Given the description of an element on the screen output the (x, y) to click on. 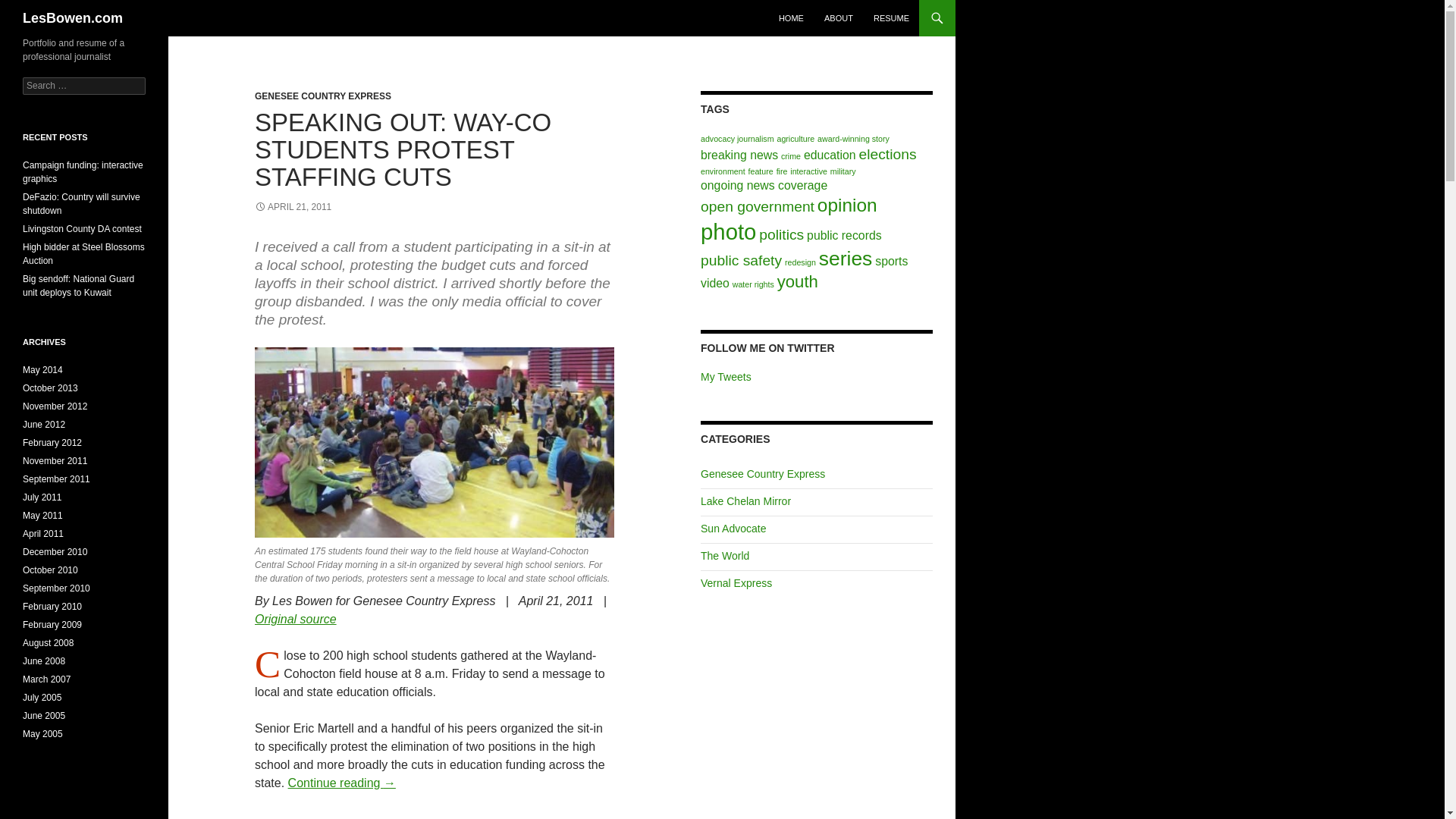
Original source (295, 618)
SPEAKING OUT: WAY-CO STUDENTS PROTEST STAFFING CUTS (402, 149)
HOME (791, 18)
RESUME (891, 18)
ABOUT (838, 18)
LesBowen.com (72, 18)
GENESEE COUNTRY EXPRESS (322, 95)
APRIL 21, 2011 (292, 206)
